Given the description of an element on the screen output the (x, y) to click on. 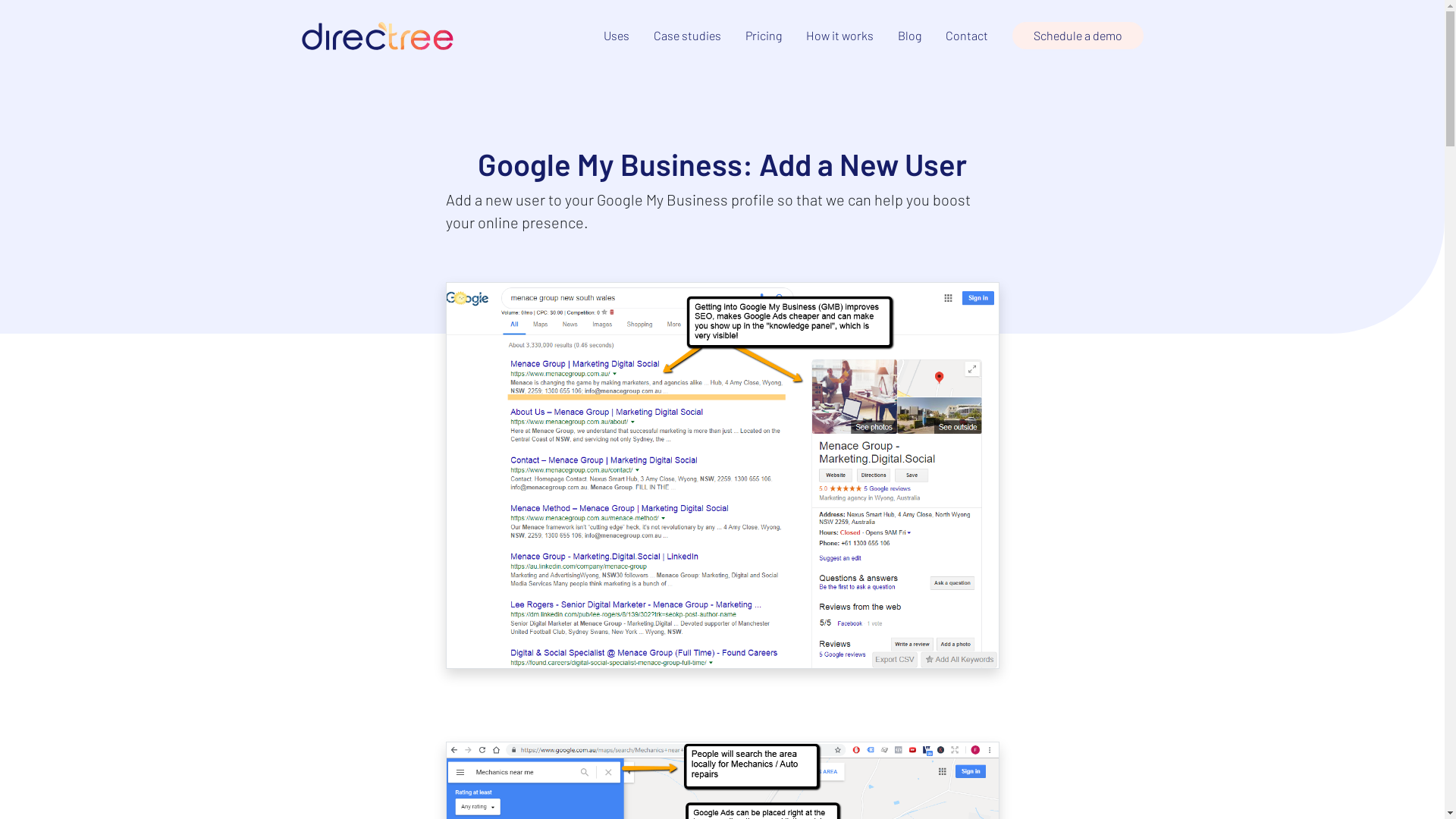
Pricing Element type: text (762, 35)
Blog Element type: text (909, 35)
Case studies Element type: text (687, 35)
Contact Element type: text (965, 35)
How it works Element type: text (838, 35)
Schedule a demo Element type: text (1076, 35)
Uses Element type: text (616, 35)
